Given the description of an element on the screen output the (x, y) to click on. 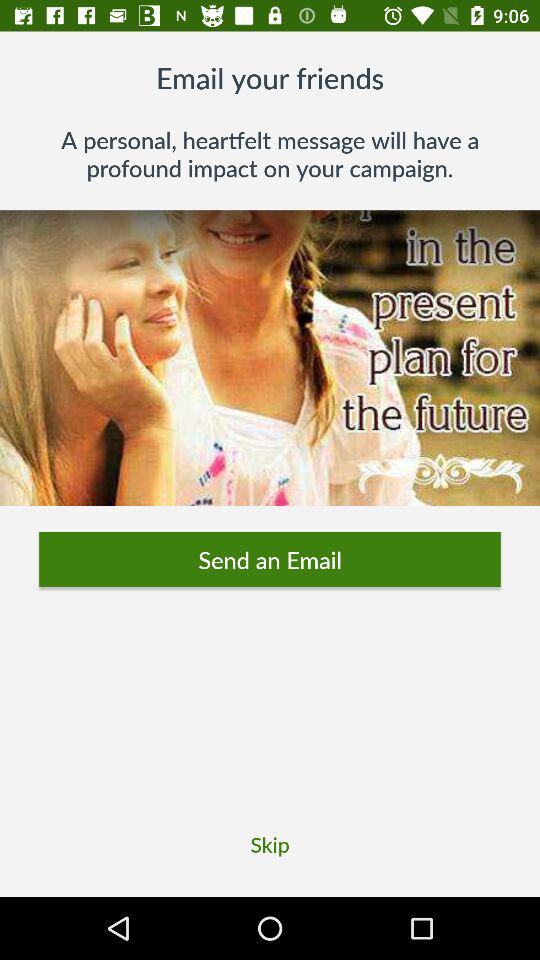
tap the icon above the skip (269, 559)
